Given the description of an element on the screen output the (x, y) to click on. 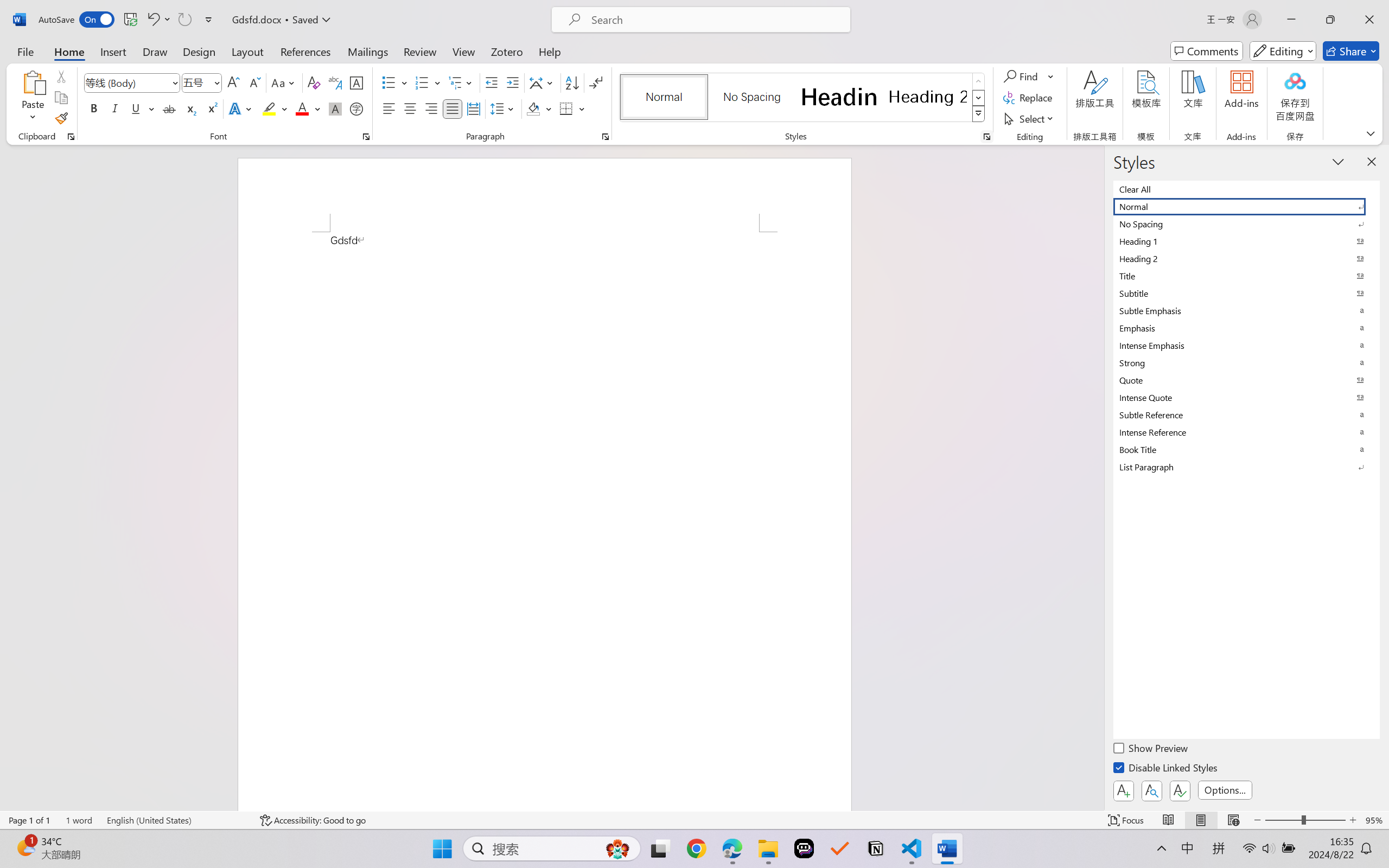
Book Title (1246, 449)
Enclose Characters... (356, 108)
Row up (978, 81)
Quote (1246, 379)
Copy (60, 97)
Center (409, 108)
Options... (1224, 789)
